Given the description of an element on the screen output the (x, y) to click on. 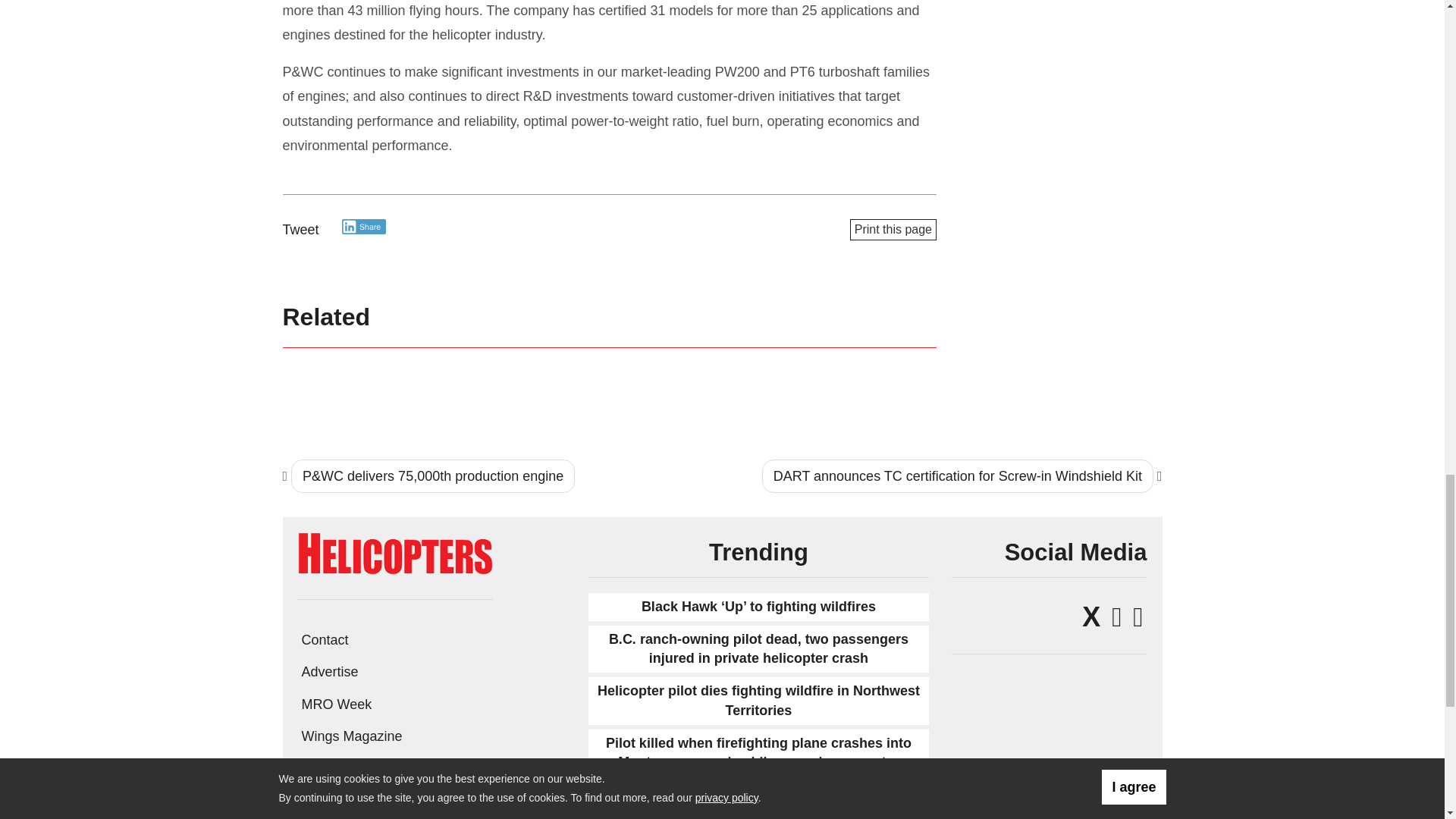
Helicopters Magazine (395, 552)
3rd party ad content (1060, 37)
